Given the description of an element on the screen output the (x, y) to click on. 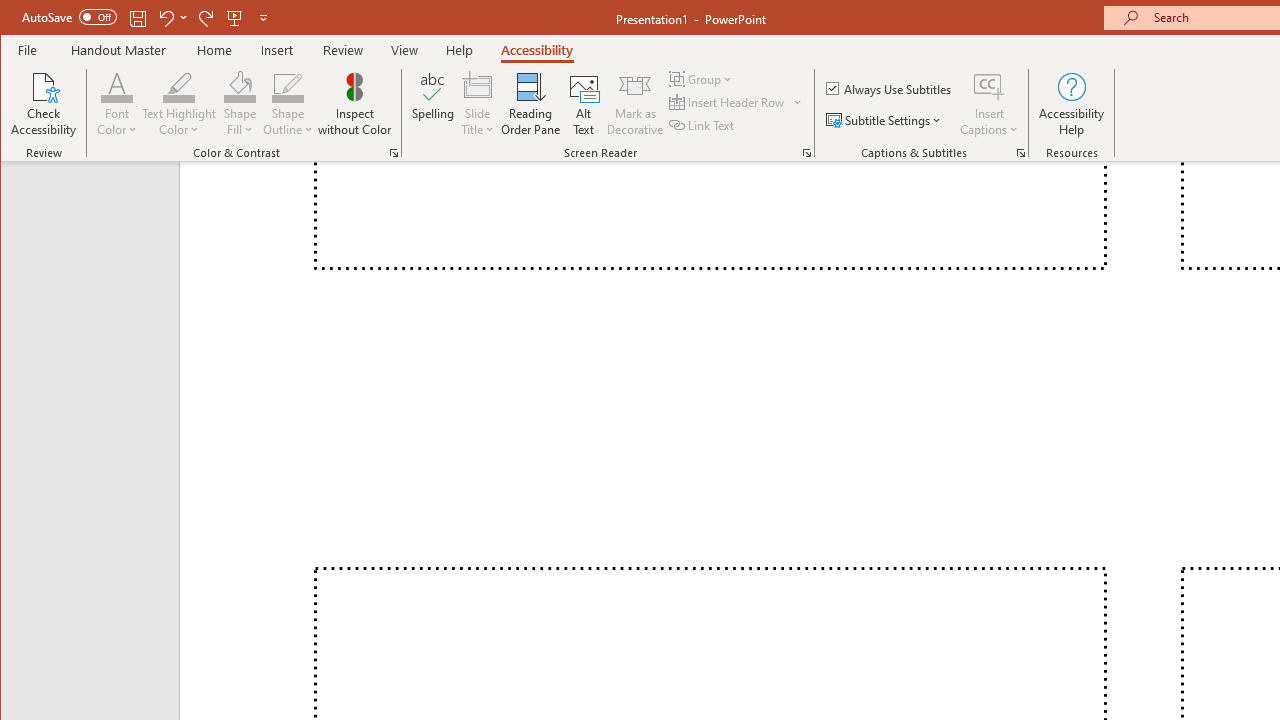
Handout Master (118, 50)
Save (138, 17)
Undo (171, 17)
